Given the description of an element on the screen output the (x, y) to click on. 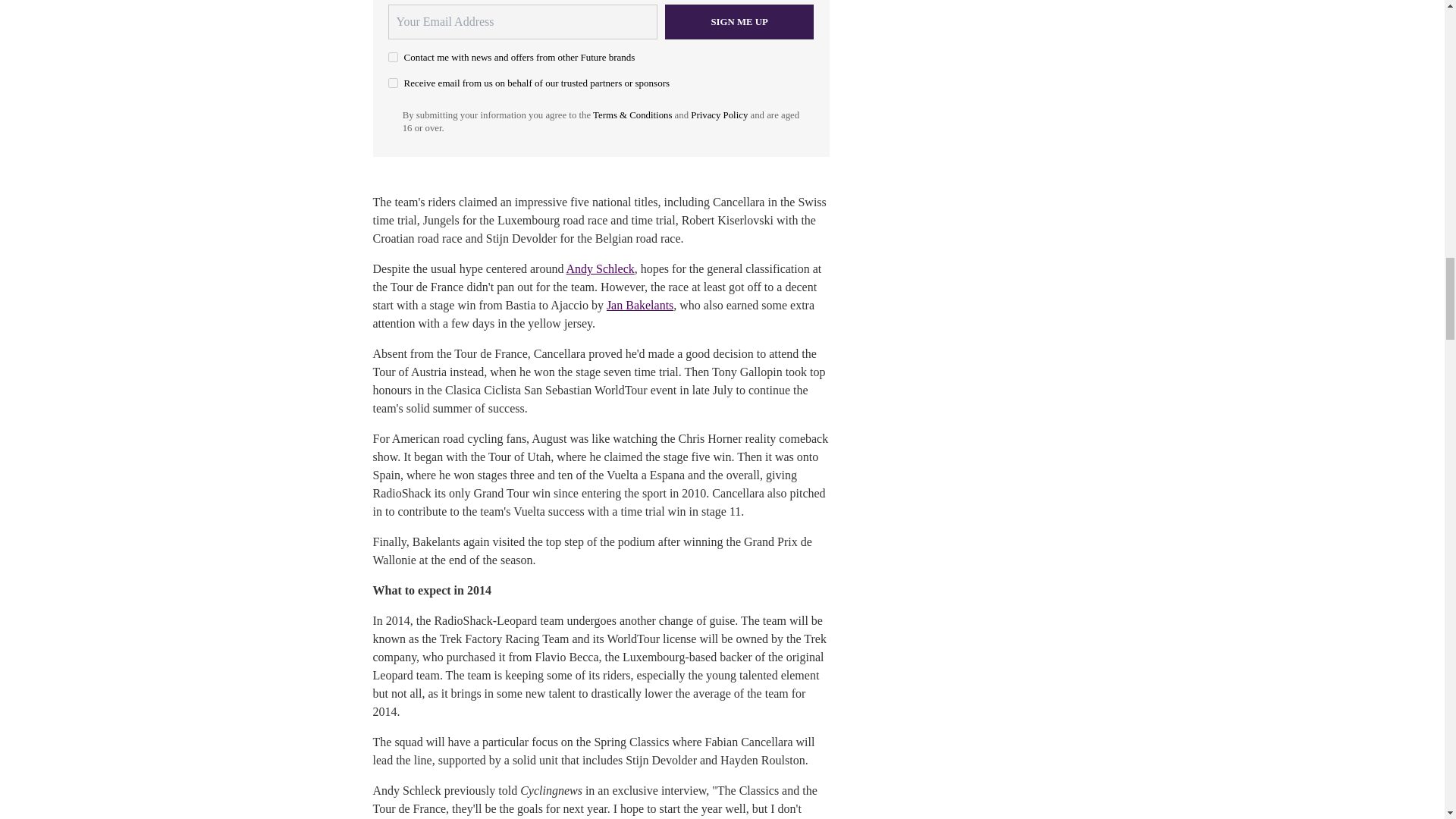
on (392, 57)
Sign me up (739, 21)
on (392, 82)
